Given the description of an element on the screen output the (x, y) to click on. 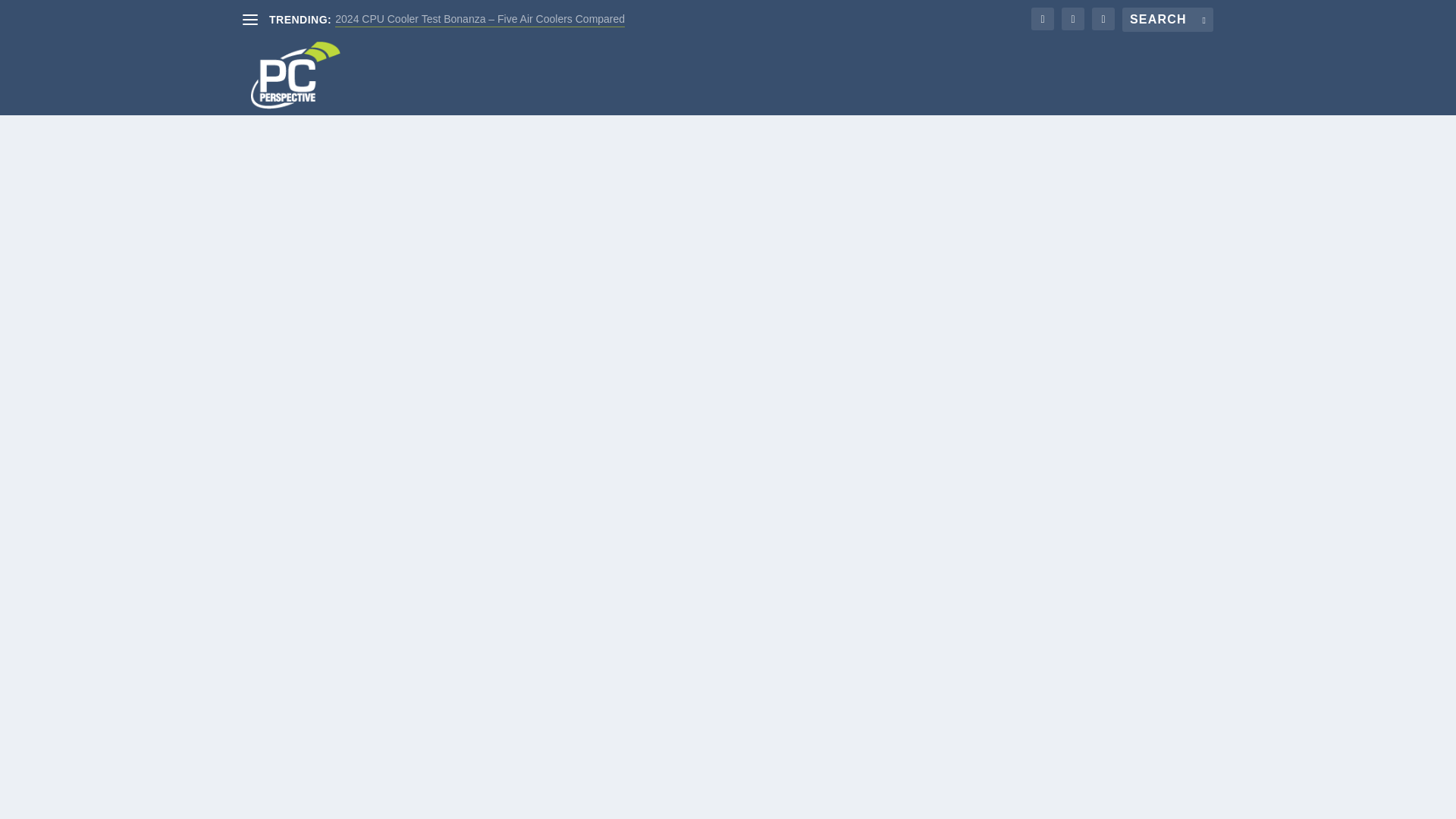
Search for: (1167, 19)
